Given the description of an element on the screen output the (x, y) to click on. 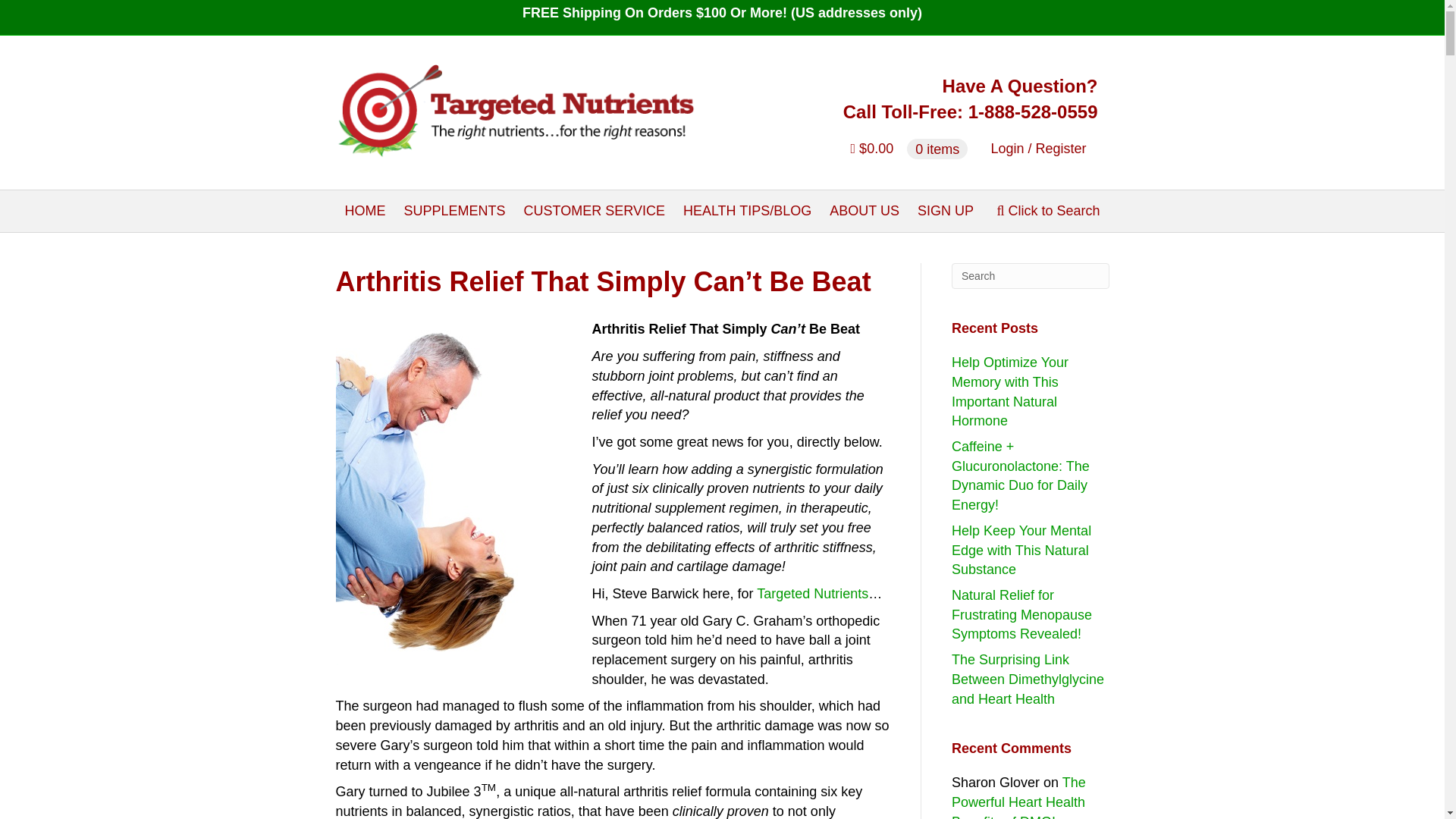
ABOUT US (864, 210)
SUPPLEMENTS (453, 210)
HOME (364, 210)
Search (1030, 275)
CUSTOMER SERVICE (594, 210)
Search (1030, 275)
View your shopping cart (909, 149)
Click to Search (1047, 211)
Targeted Nutrients (812, 593)
Type and press Enter to search. (1030, 275)
